Given the description of an element on the screen output the (x, y) to click on. 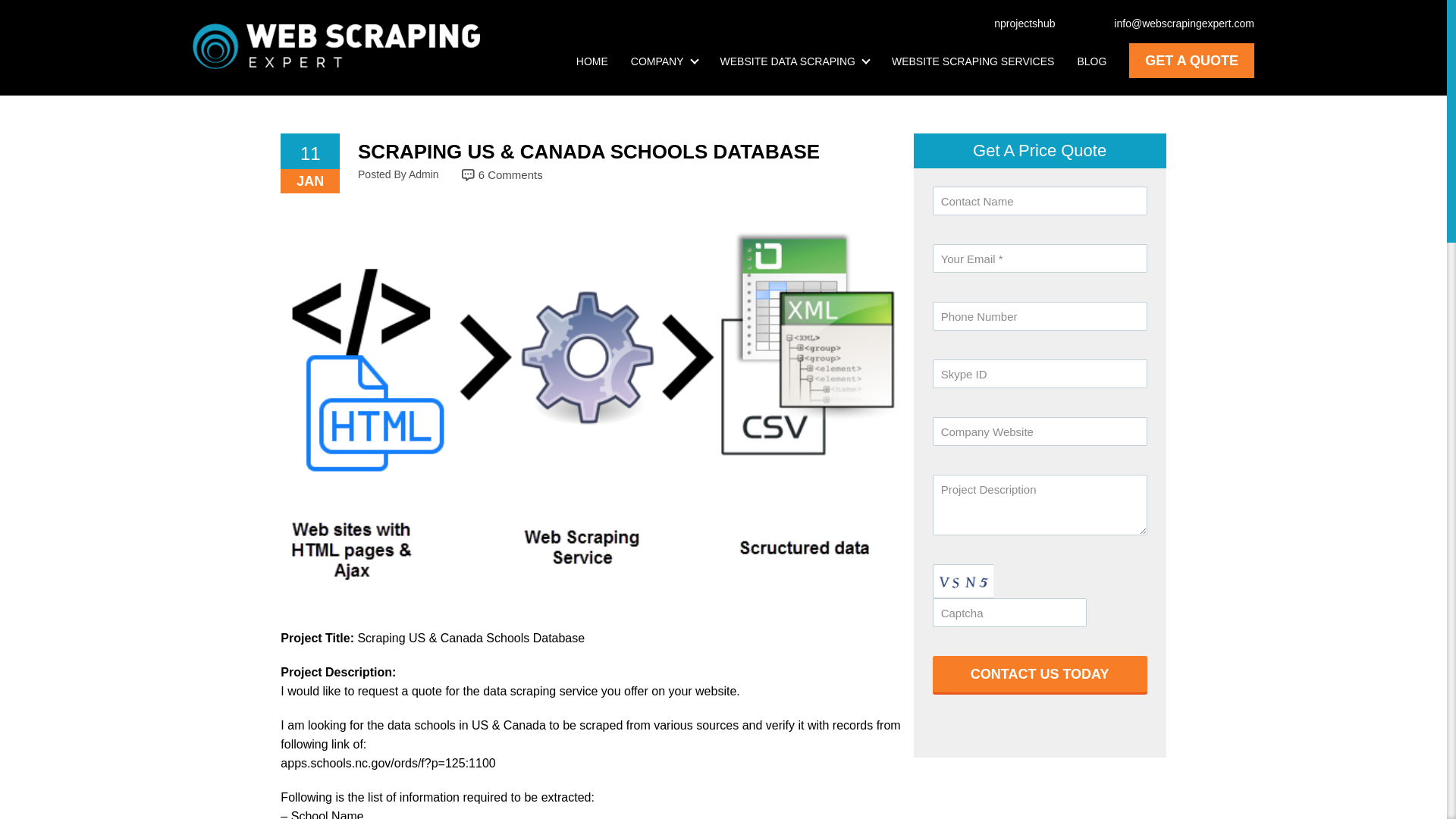
HOME (592, 61)
Web Scraping Expert (336, 45)
nprojectshub (1016, 23)
Contact Us Today (1040, 675)
